Given the description of an element on the screen output the (x, y) to click on. 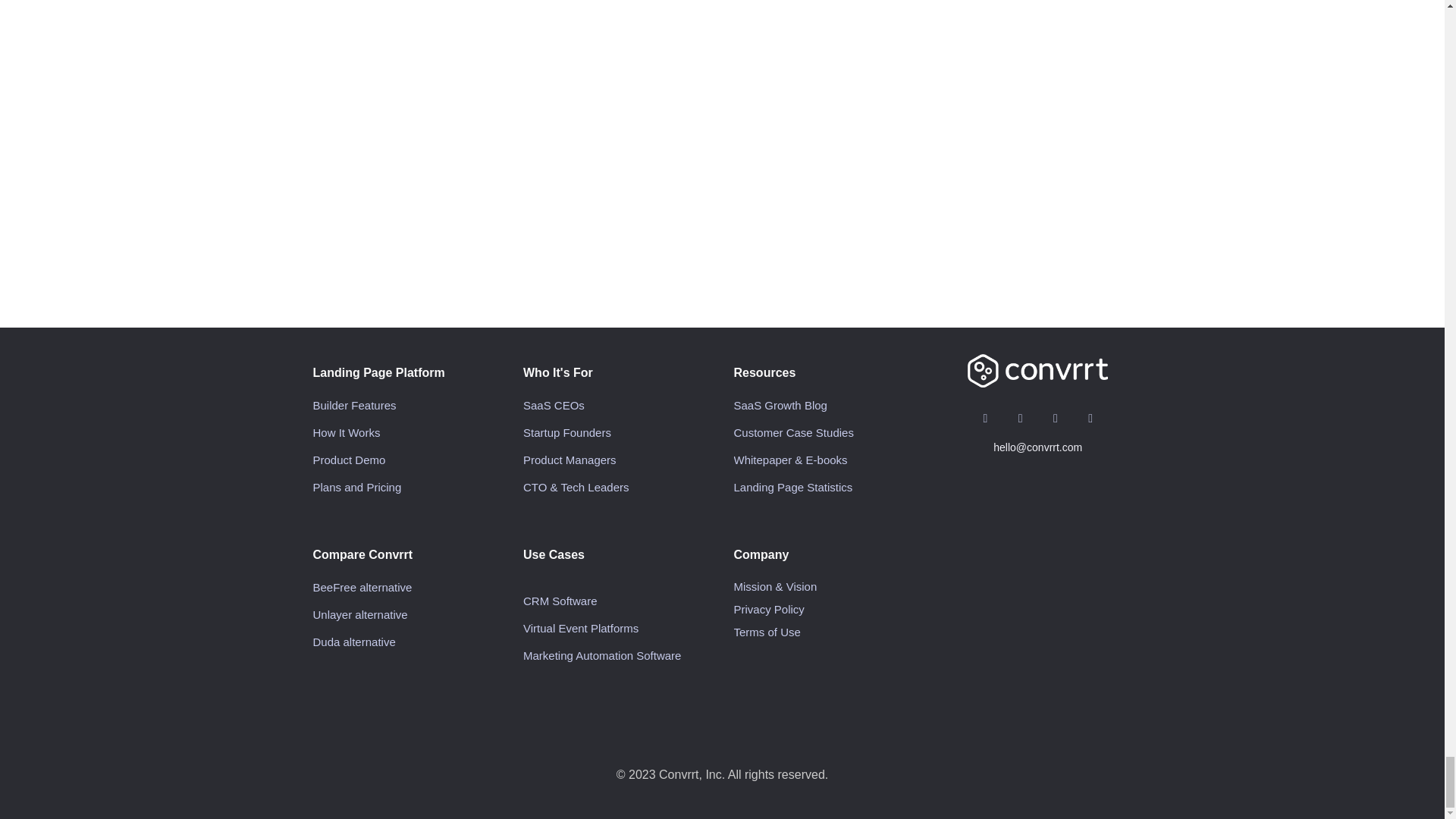
Unlayer alternative (360, 614)
Product Demo (349, 459)
Plans and Pricing (357, 486)
Virtual Event Platforms (580, 627)
Startup Founders (566, 431)
SaaS CEOs (553, 404)
Builder Features (354, 404)
Landing Page Statistics (793, 486)
Product Managers (568, 459)
SaaS Growth Blog (780, 404)
How It Works (346, 431)
Privacy Policy (769, 608)
Marketing Automation Software (601, 655)
Terms of Use (766, 631)
Duda alternative (353, 641)
